Given the description of an element on the screen output the (x, y) to click on. 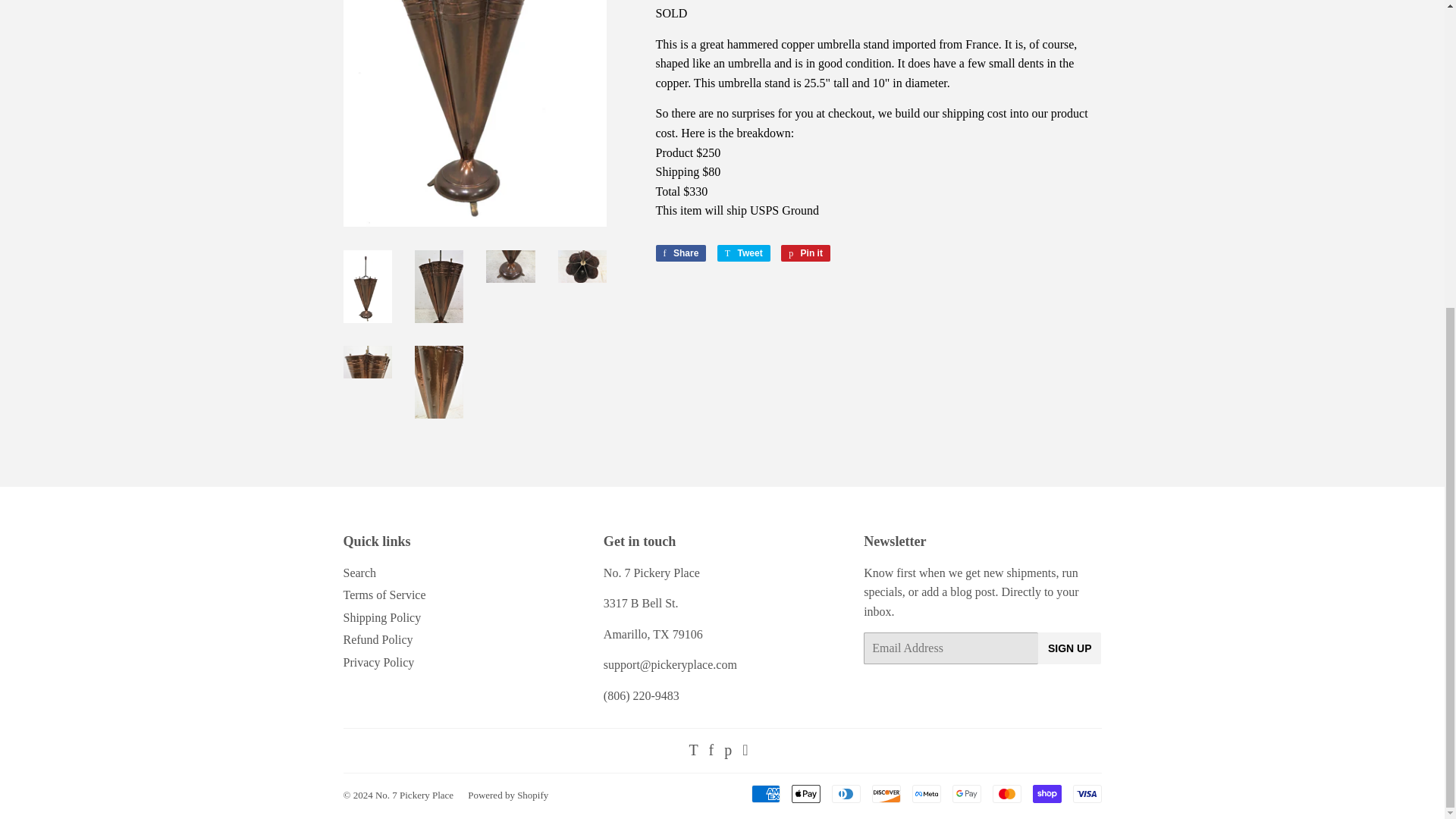
Google Pay (966, 793)
Meta Pay (925, 793)
Discover (886, 793)
Diners Club (845, 793)
Pin on Pinterest (804, 252)
Apple Pay (806, 793)
Visa (1085, 793)
Shop Pay (1046, 793)
Share on Facebook (680, 252)
Tweet on Twitter (743, 252)
